Given the description of an element on the screen output the (x, y) to click on. 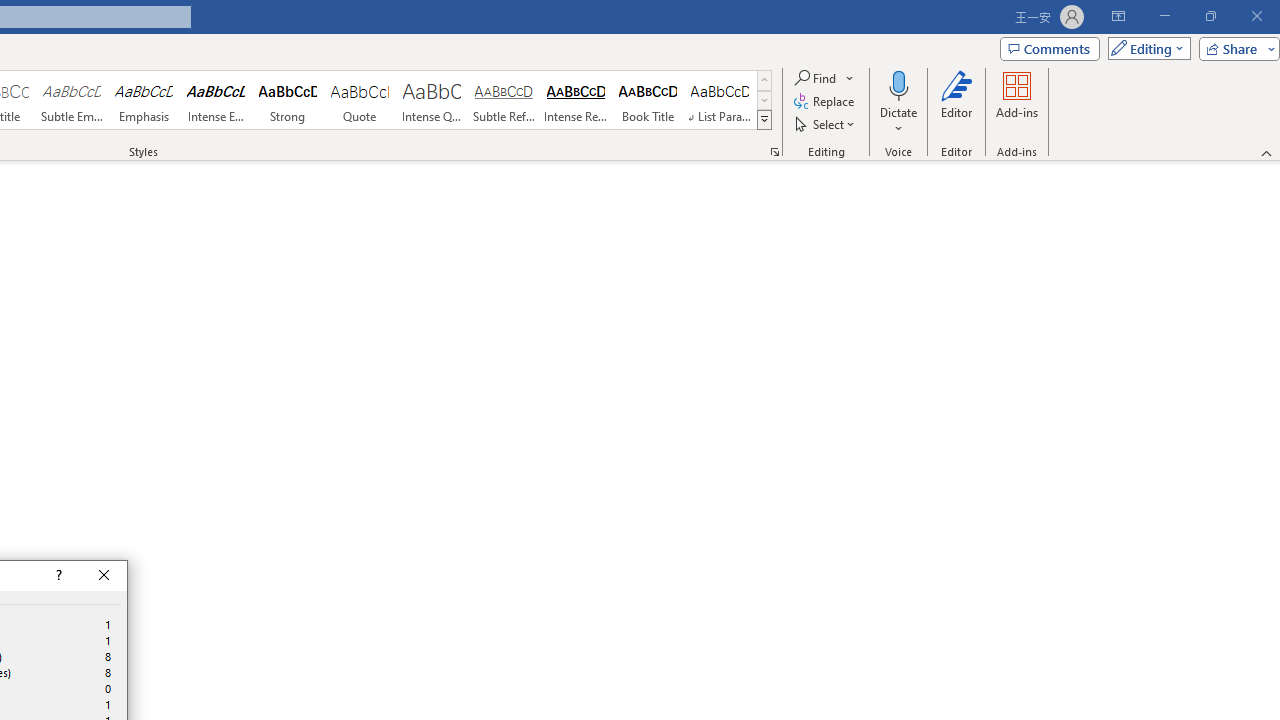
Quote (359, 100)
